Given the description of an element on the screen output the (x, y) to click on. 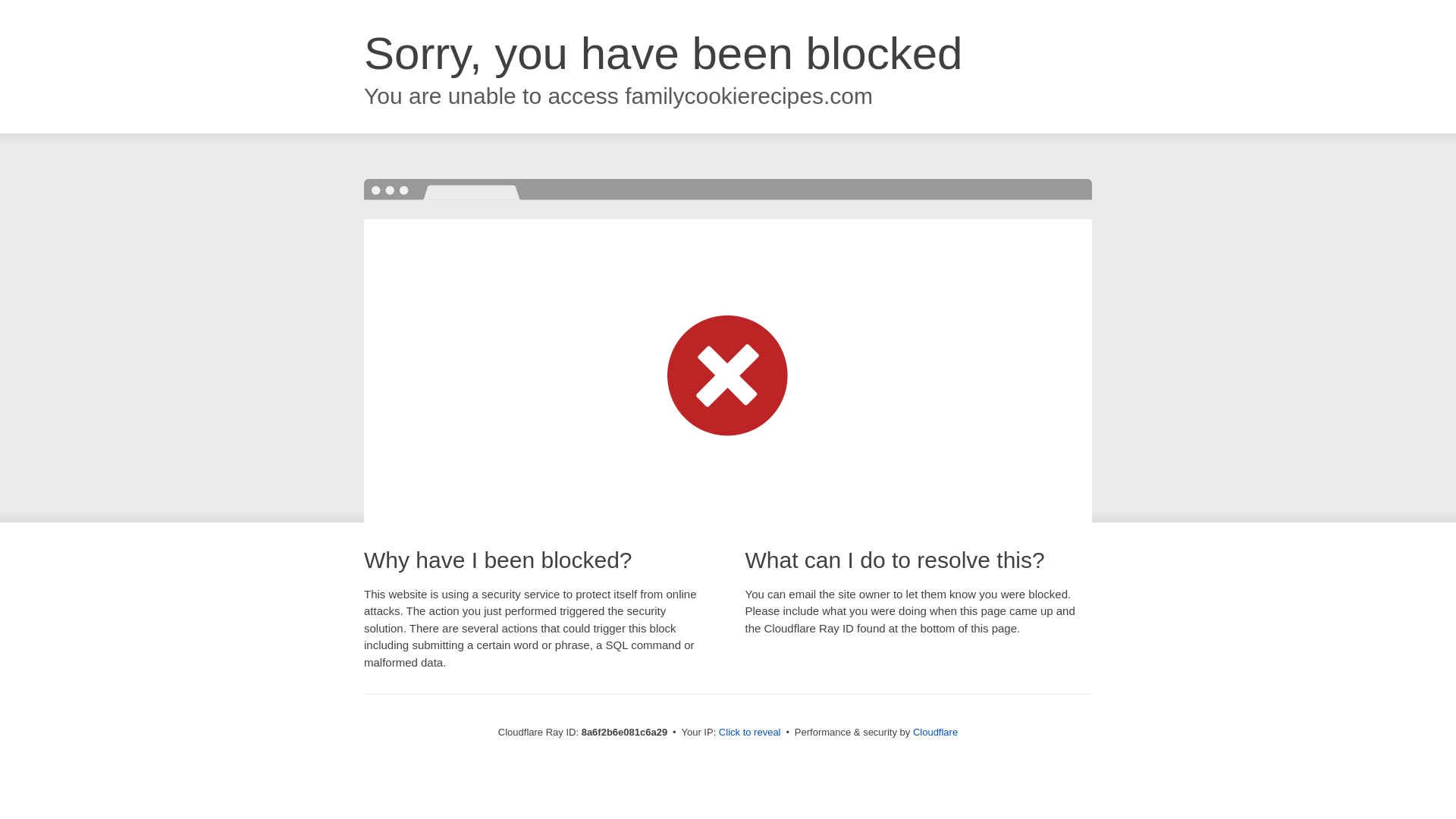
Click to reveal (749, 732)
Cloudflare (935, 731)
